Given the description of an element on the screen output the (x, y) to click on. 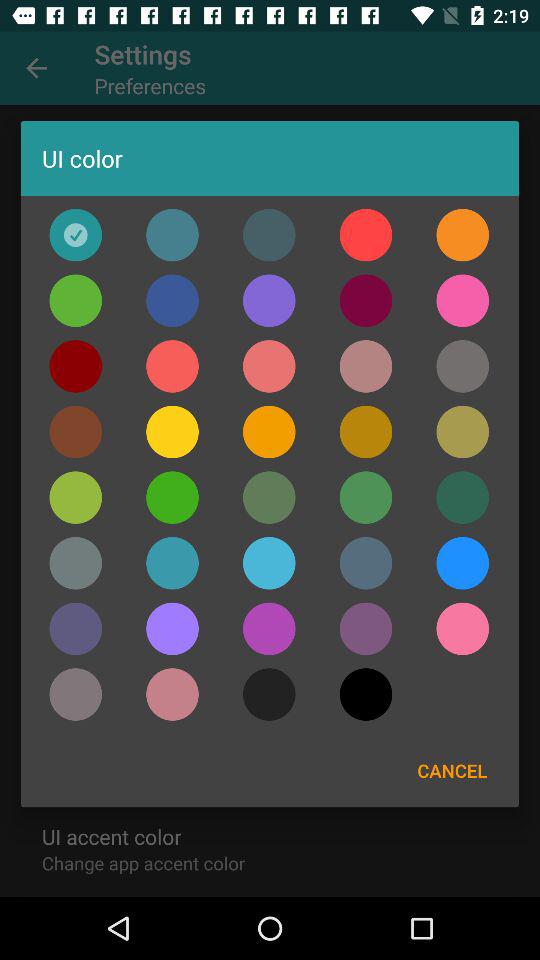
choose ui color blue-grey (365, 563)
